Given the description of an element on the screen output the (x, y) to click on. 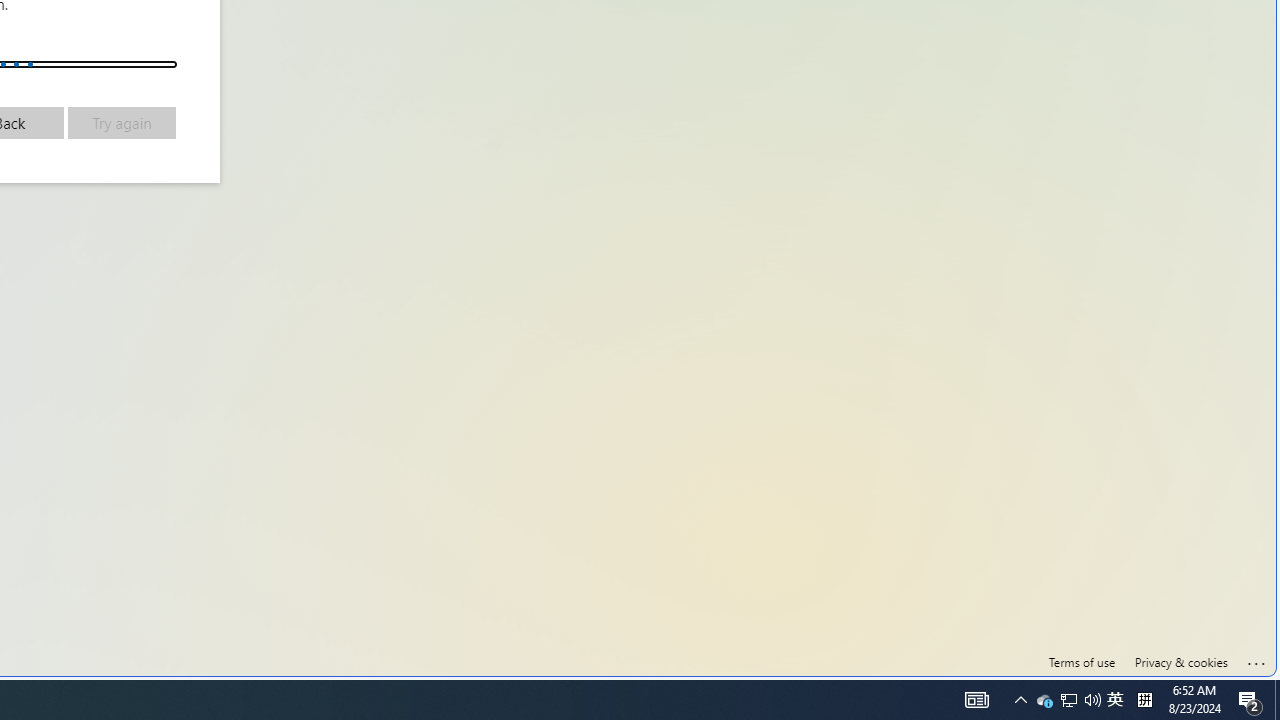
google_privacy_policy_zh-CN.pdf (687, 482)
Privacy & cookies (1180, 662)
Terms of use (1082, 662)
Click here for troubleshooting information (1257, 659)
Try again (121, 121)
MSN (687, 223)
